Given the description of an element on the screen output the (x, y) to click on. 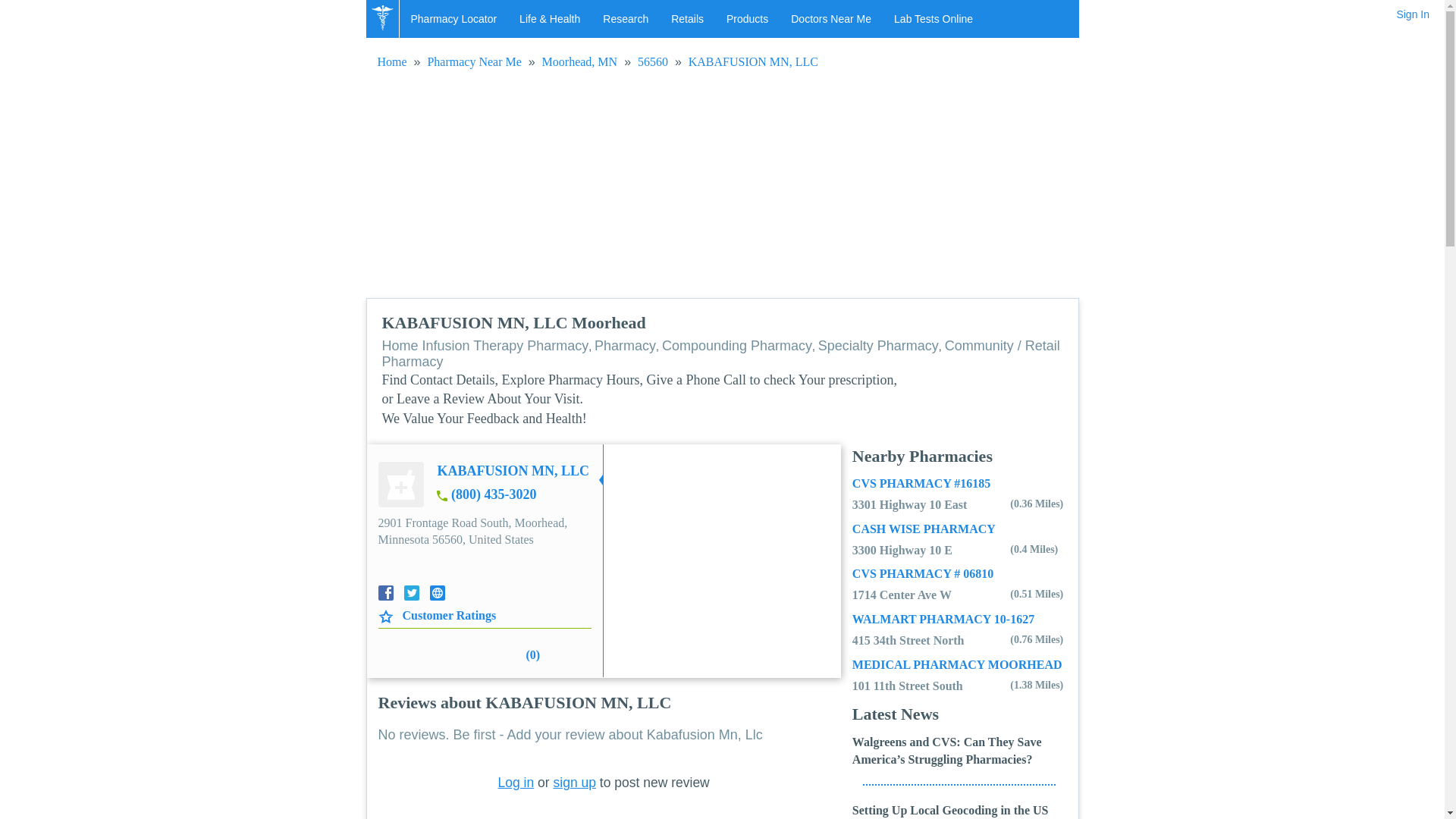
56560 (652, 60)
Home (392, 60)
Sign In (1412, 14)
Log in (515, 782)
CASH WISE PHARMACY (923, 528)
MEDICAL PHARMACY MOORHEAD (956, 664)
KABAFUSION MN, LLC (753, 60)
Lab Tests Online (933, 18)
Pharmacy Near Me (473, 60)
Moorhead, MN (579, 60)
WALMART PHARMACY 10-1627 (942, 618)
Doctors Near Me (830, 18)
Products (746, 18)
